Given the description of an element on the screen output the (x, y) to click on. 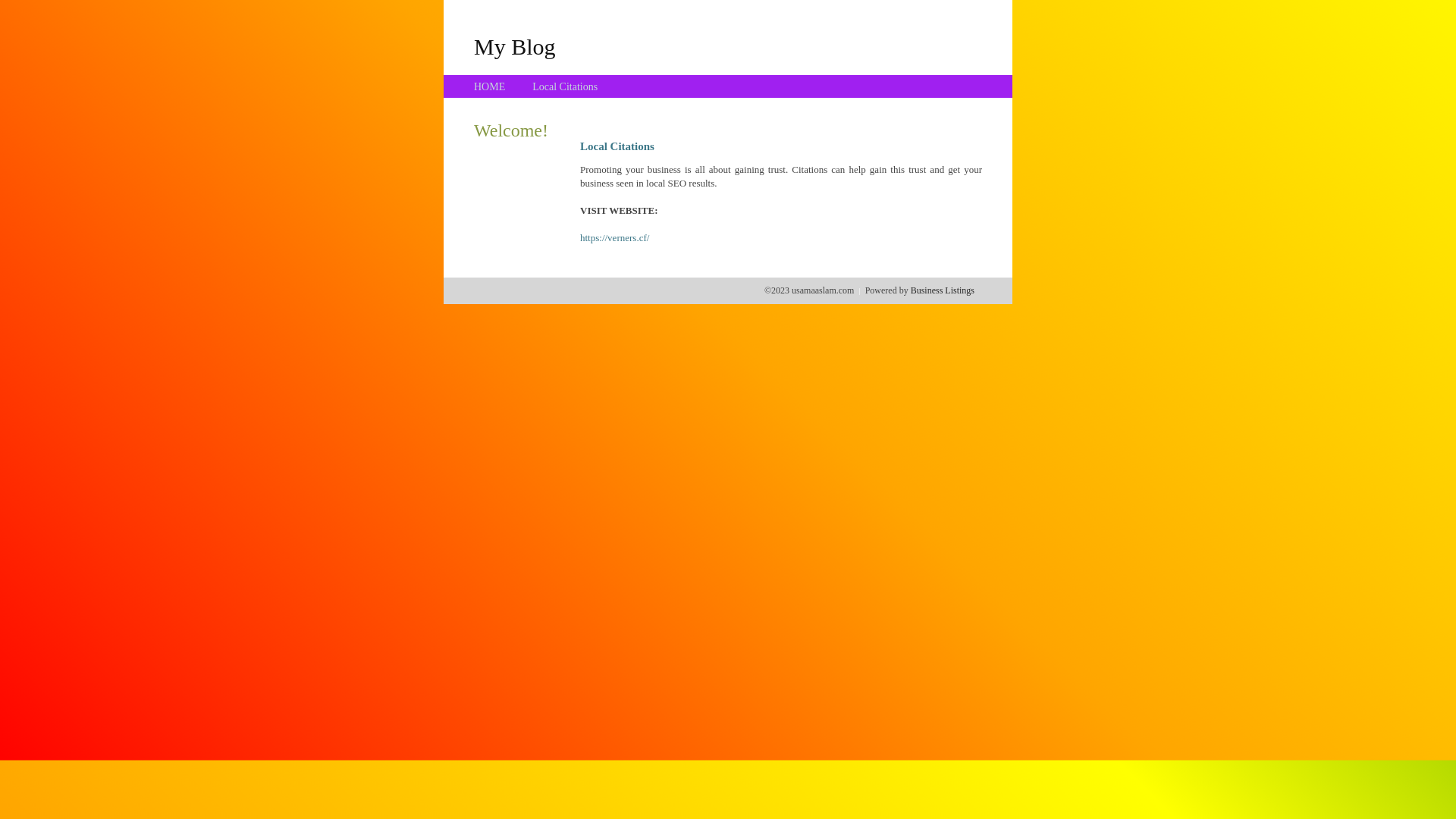
Local Citations Element type: text (564, 86)
https://verners.cf/ Element type: text (614, 237)
My Blog Element type: text (514, 46)
Business Listings Element type: text (942, 290)
HOME Element type: text (489, 86)
